Given the description of an element on the screen output the (x, y) to click on. 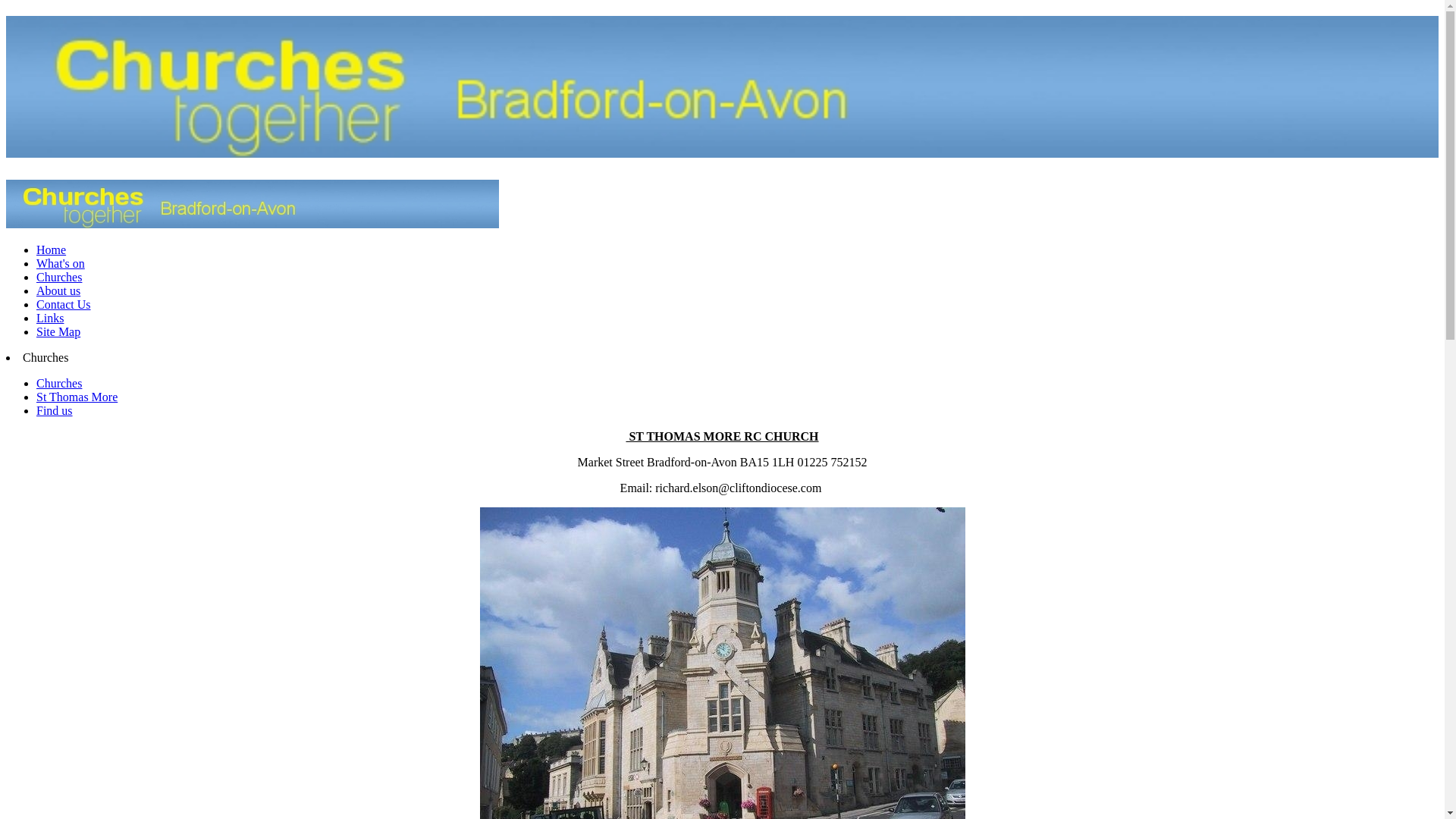
Contact Us (63, 304)
What's on (60, 263)
Home (50, 249)
About us (58, 290)
Links (50, 318)
Find us (54, 410)
Churches (58, 382)
St Thomas More (76, 396)
Churches (58, 277)
Site Map (58, 331)
